Given the description of an element on the screen output the (x, y) to click on. 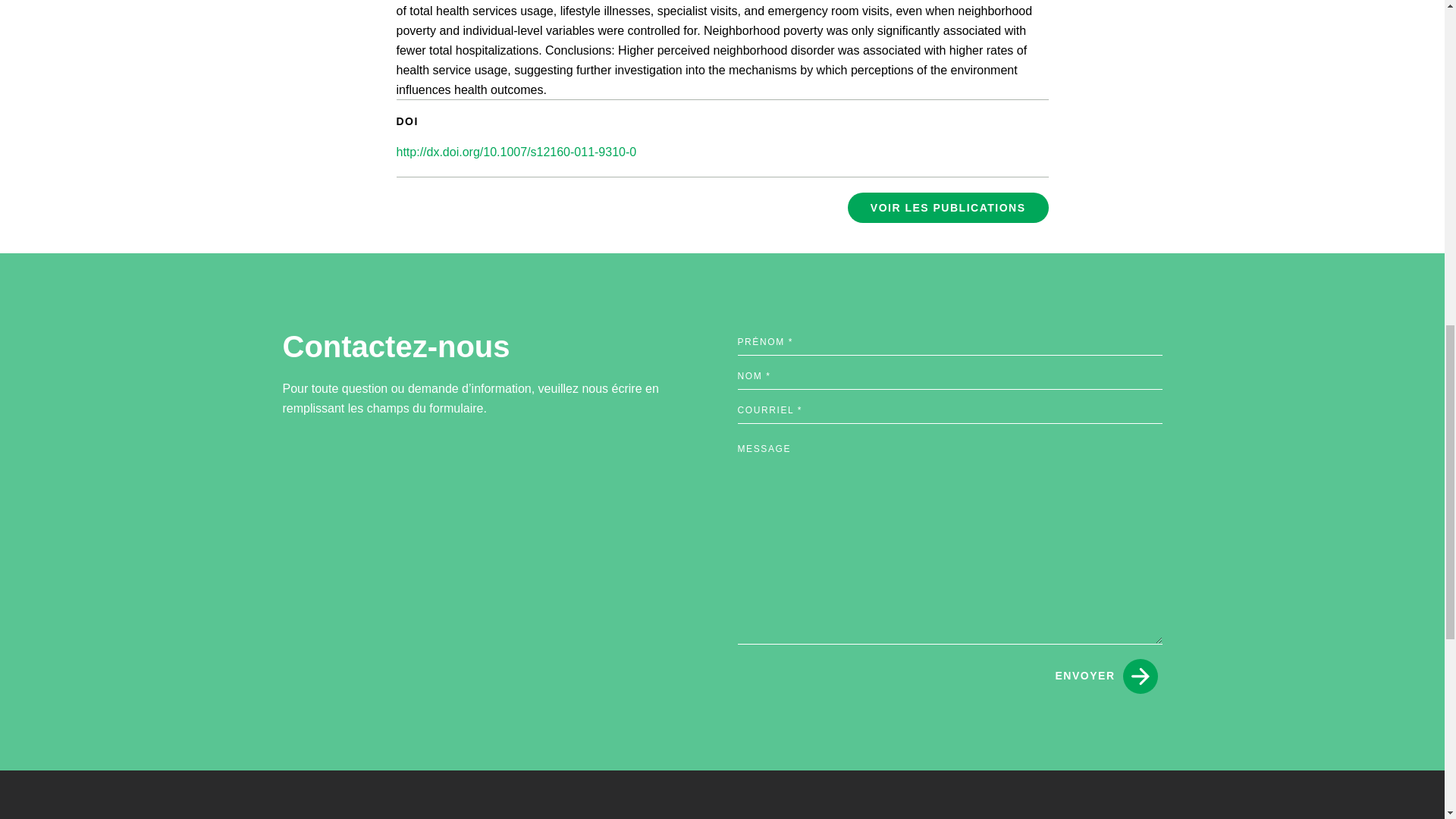
VOIR LES PUBLICATIONS (947, 207)
ENVOYER (1106, 676)
